Given the description of an element on the screen output the (x, y) to click on. 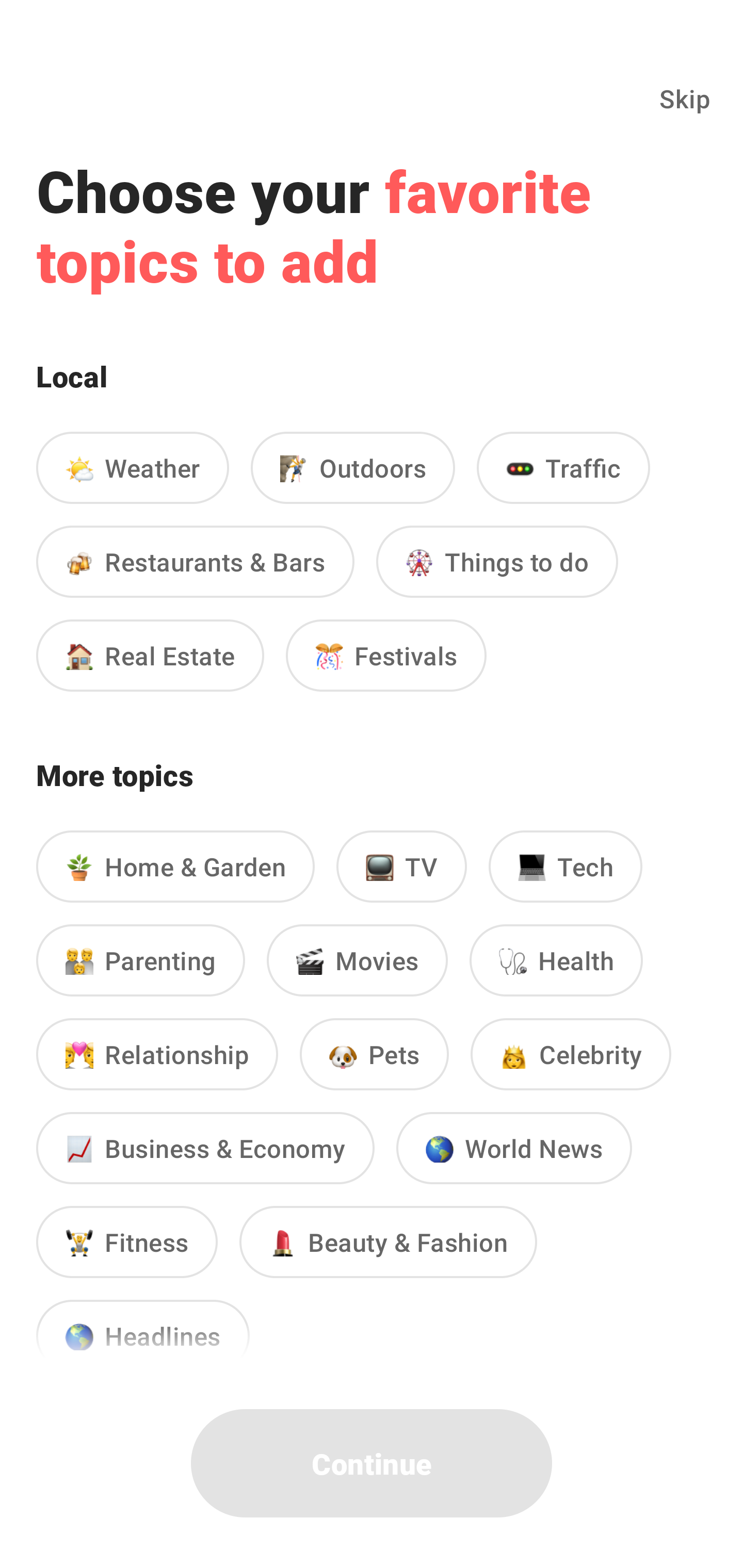
Skip (685, 97)
Weather (132, 467)
Outdoors (352, 467)
Traffic (563, 467)
Restaurants & Bars (195, 561)
Things to do (496, 561)
Real Estate (150, 655)
Festivals (386, 655)
Home & Garden (175, 867)
TV (401, 867)
Tech (565, 867)
Parenting (140, 960)
Movies (357, 960)
Health (555, 960)
Relationship (156, 1053)
Pets (373, 1053)
Celebrity (570, 1053)
Business & Economy (205, 1147)
World News (514, 1147)
Fitness (126, 1241)
Beauty & Fashion (388, 1241)
Headlines (142, 1328)
Continue (371, 1463)
